Given the description of an element on the screen output the (x, y) to click on. 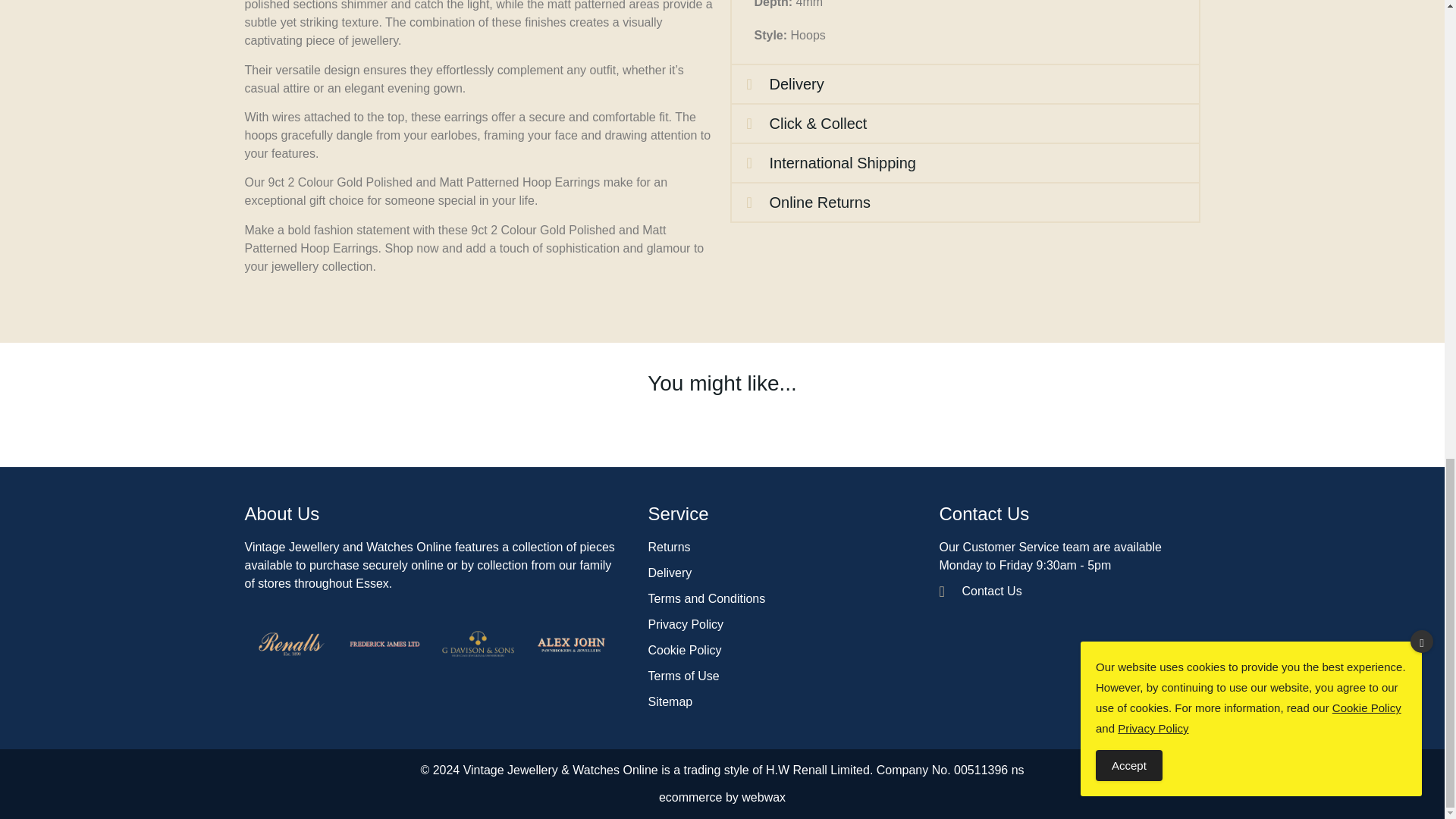
e-commerce (690, 797)
